Given the description of an element on the screen output the (x, y) to click on. 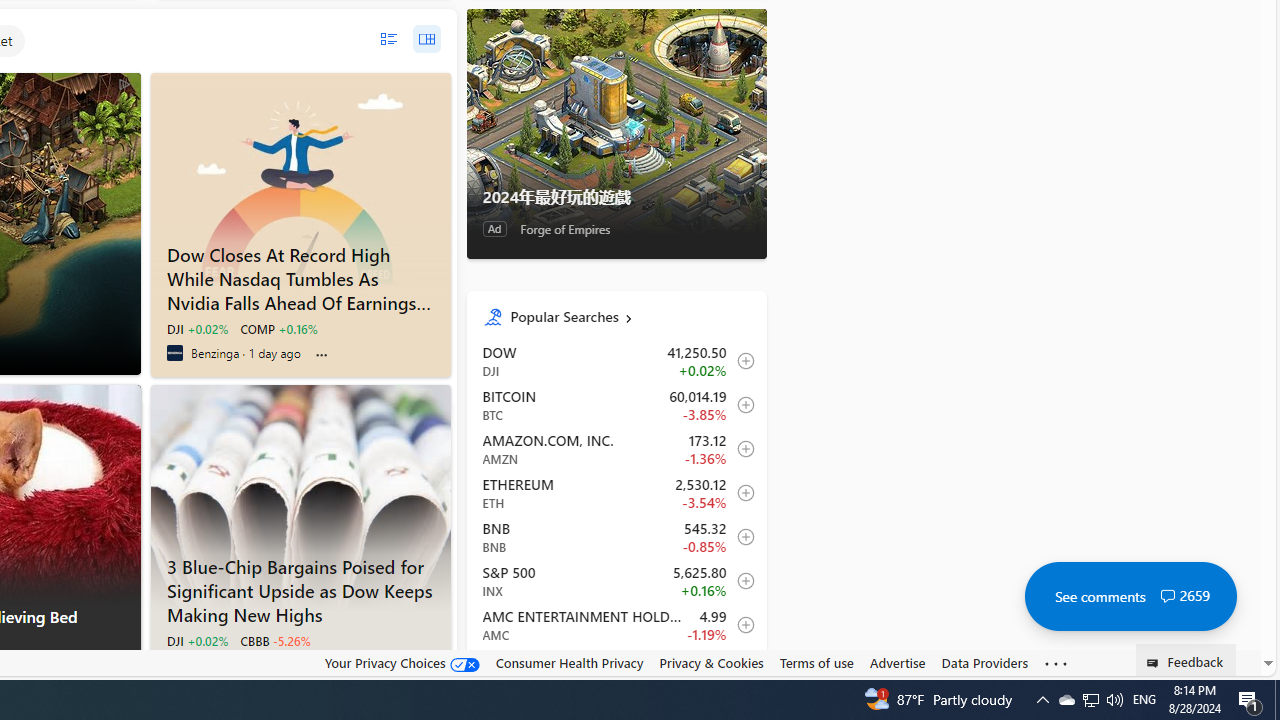
Popular Searches (630, 316)
Benzinga (174, 352)
Data Providers (983, 662)
Terms of use (816, 663)
Investing.com (174, 664)
ADA Cardano decrease 0.36 -0.00 -1.26% itemundefined (615, 669)
Privacy & Cookies (711, 662)
Advertise (897, 663)
